Given the description of an element on the screen output the (x, y) to click on. 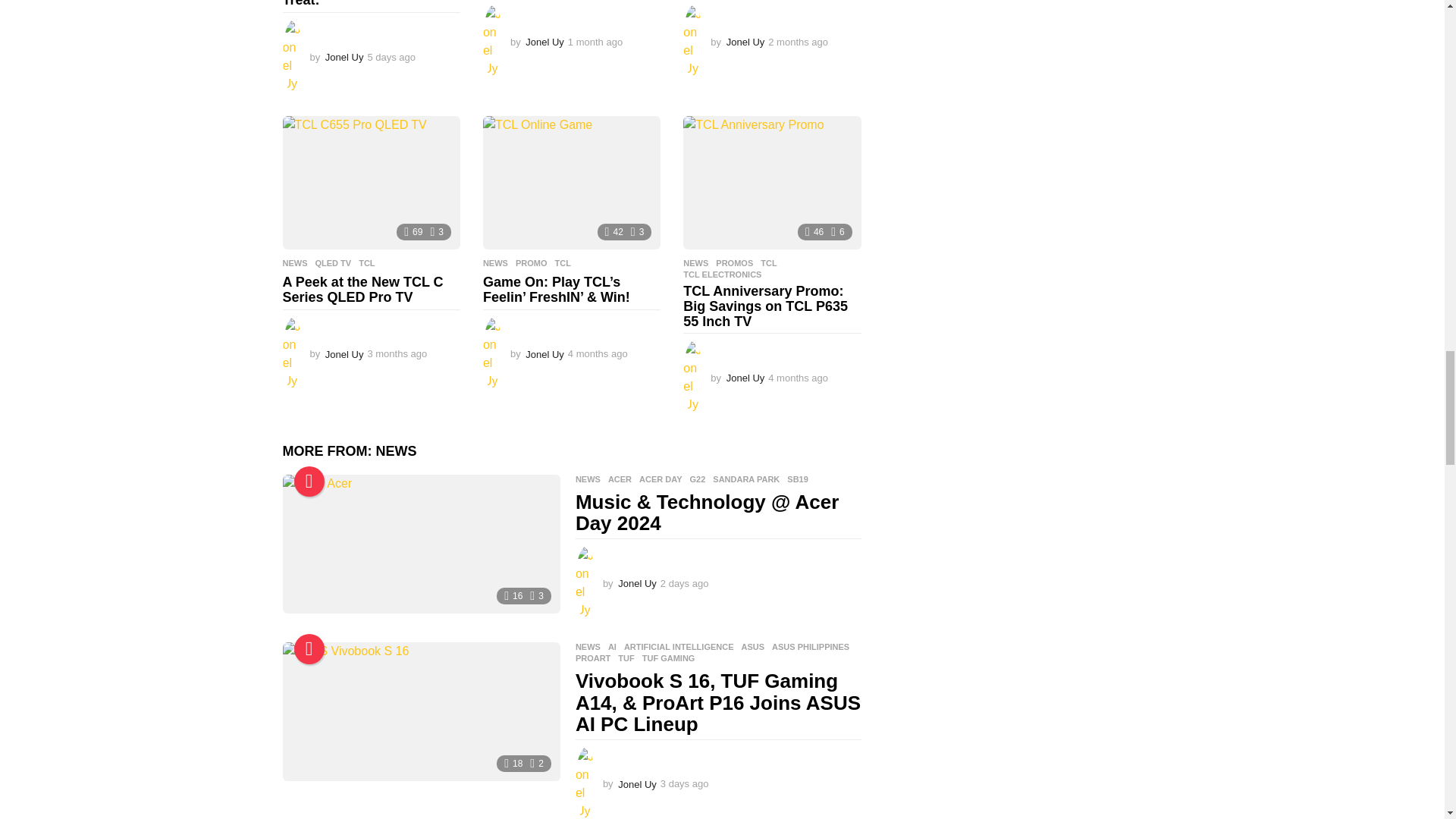
TCL Anniversary Promo:  Big Savings on TCL P635 55 Inch TV (771, 182)
A Peek at the New TCL C Series QLED Pro TV (371, 182)
Hot (309, 481)
Hot (309, 648)
